Given the description of an element on the screen output the (x, y) to click on. 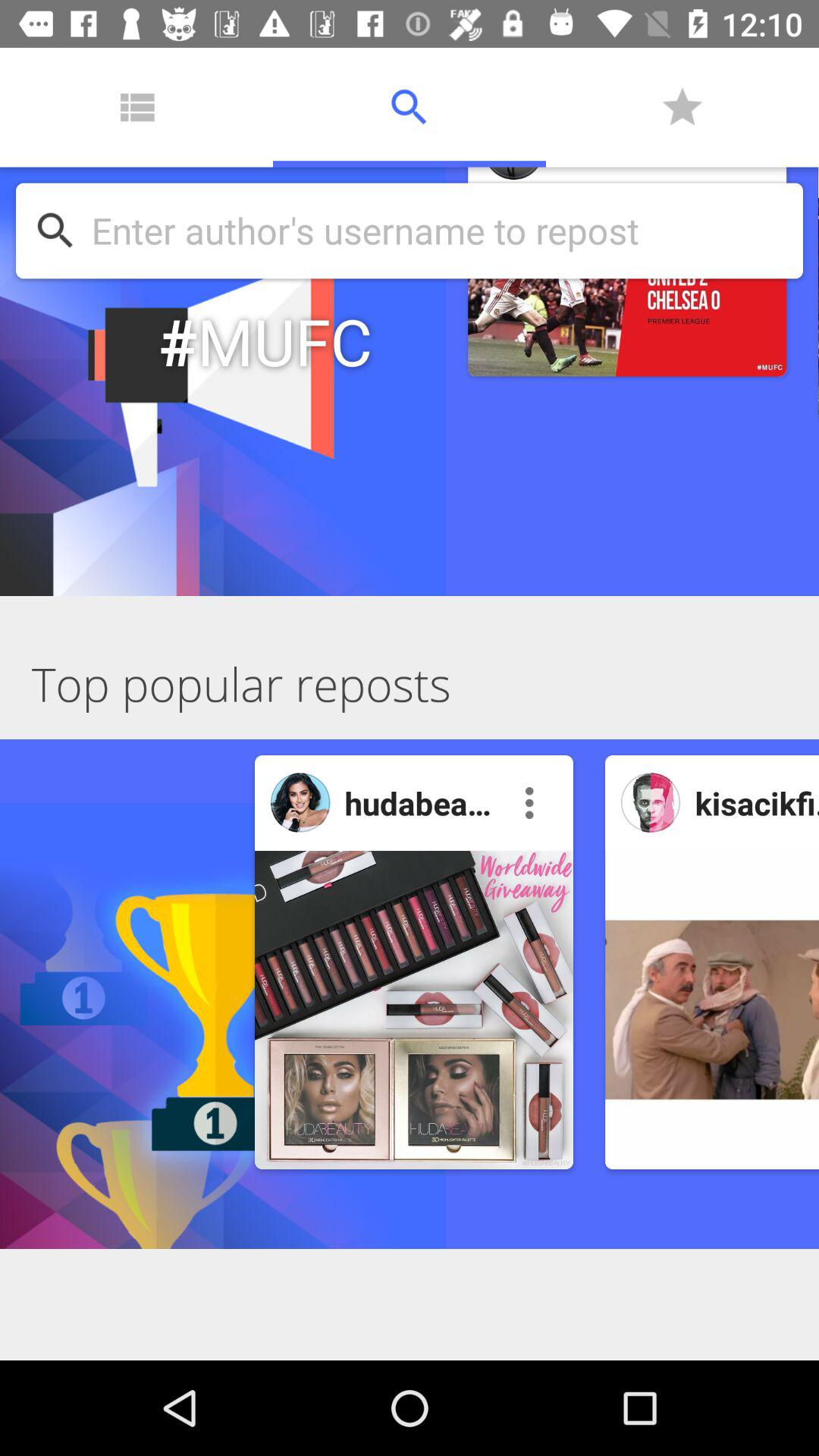
go to post (413, 1009)
